Given the description of an element on the screen output the (x, y) to click on. 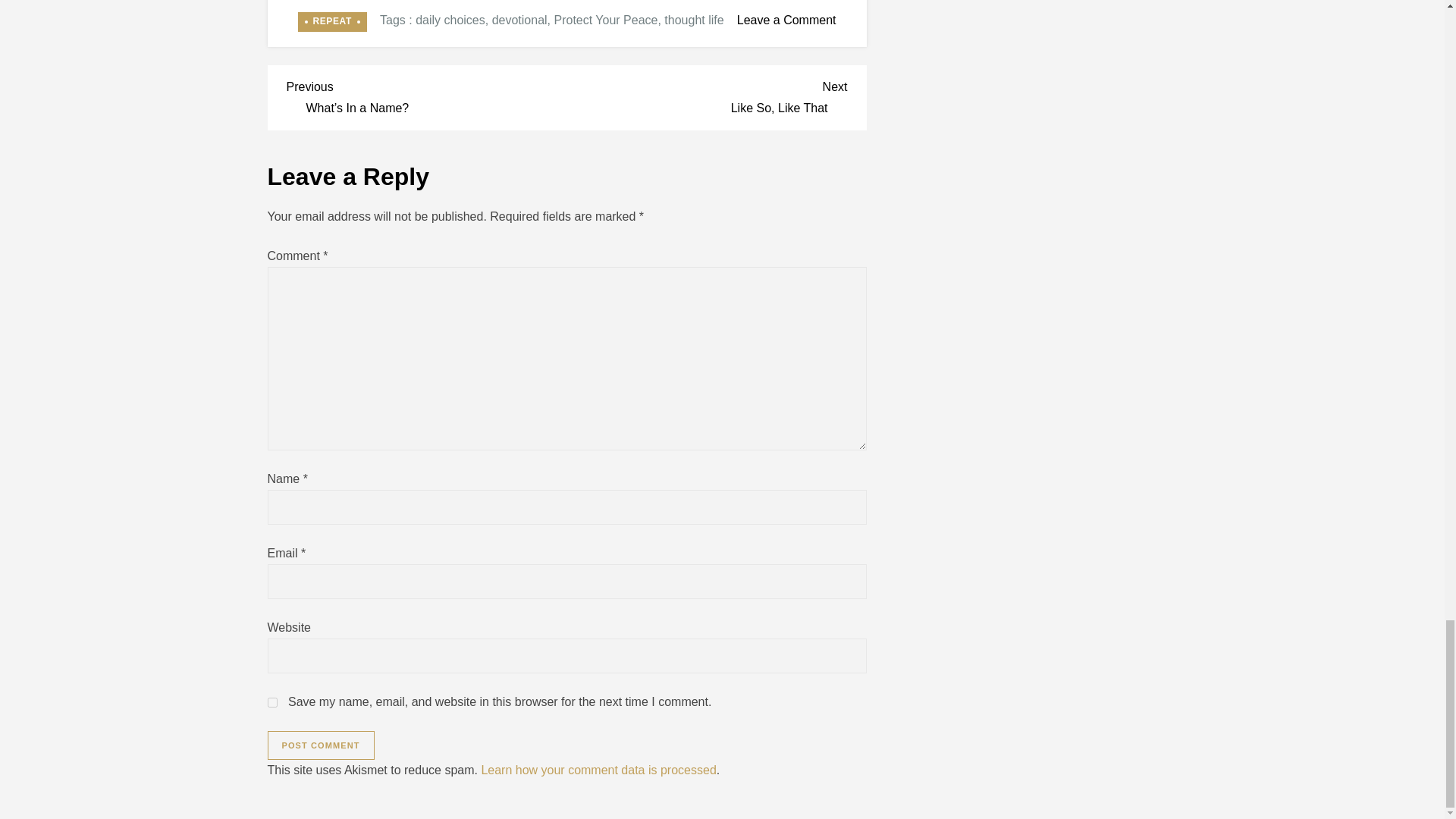
Post Comment (320, 745)
Protect Your Peace (605, 19)
REPEAT (331, 21)
devotional (519, 19)
Post Comment (707, 95)
Learn how your comment data is processed (320, 745)
thought life (598, 769)
yes (693, 19)
daily choices (271, 702)
